Given the description of an element on the screen output the (x, y) to click on. 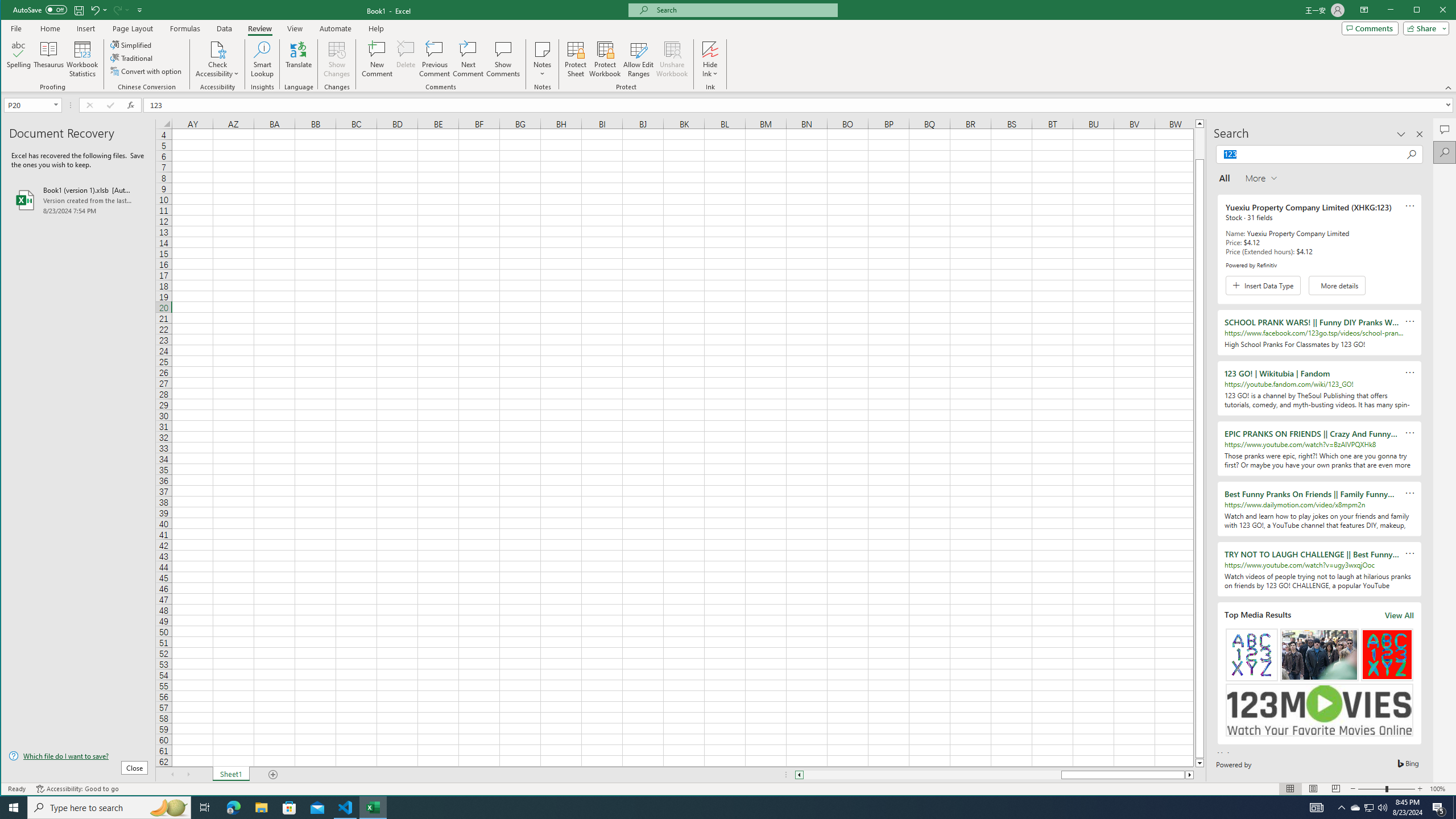
Sheet1 (230, 774)
Page Break Preview (1335, 788)
Task View (204, 807)
Redo (120, 9)
Notes (1355, 807)
Zoom (541, 59)
Protect Workbook... (1386, 788)
Comments (604, 59)
Hide Ink (1369, 28)
Delete (710, 48)
Book1 (version 1).xlsb  [AutoRecovered] (405, 59)
Close pane (78, 199)
Minimize (1419, 133)
Search (1419, 11)
